Given the description of an element on the screen output the (x, y) to click on. 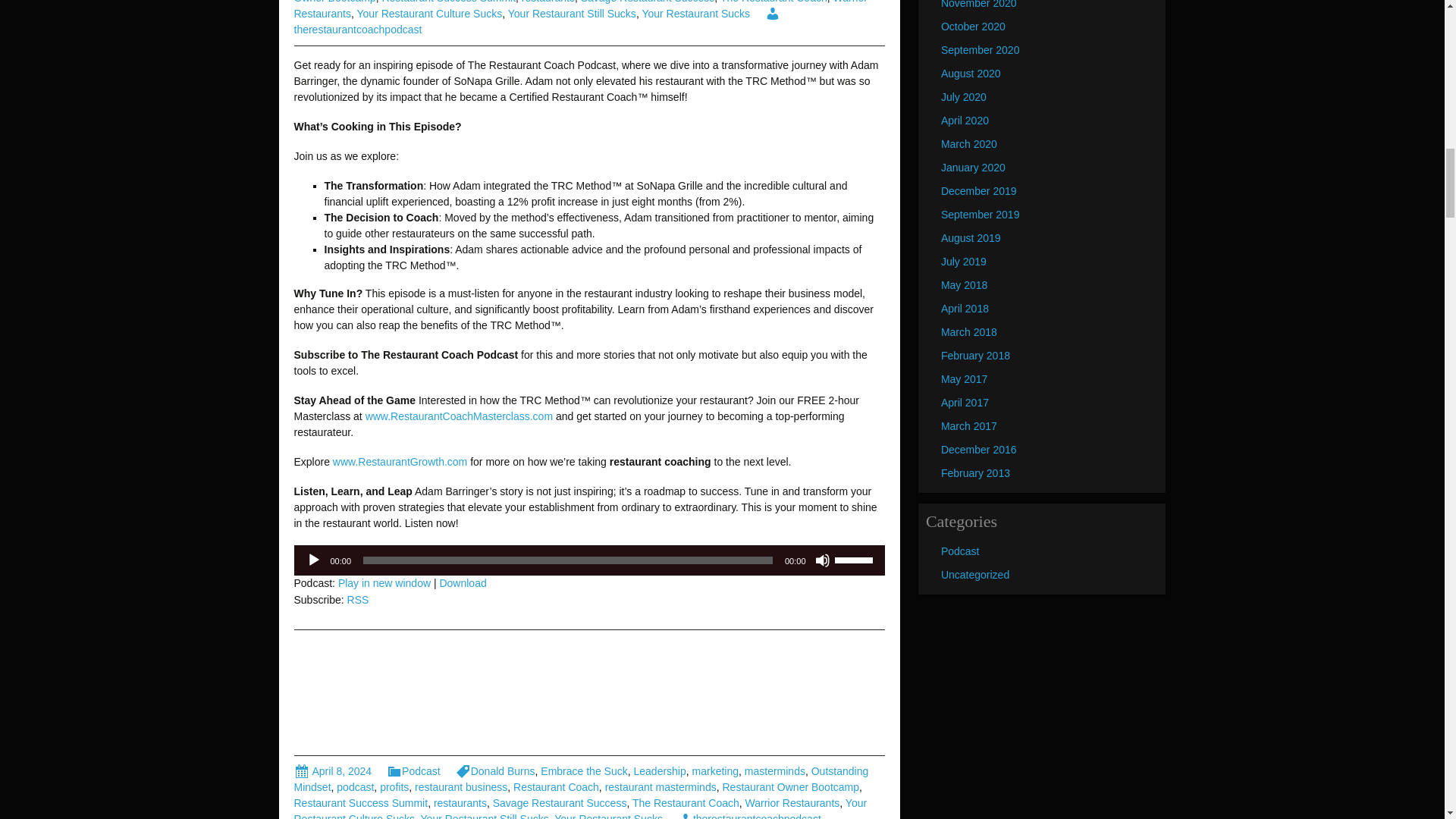
Play in new window (383, 582)
View all posts by therestaurantcoachpodcast (537, 21)
Download (462, 582)
Mute (821, 560)
View all posts by therestaurantcoachpodcast (749, 816)
Play (313, 560)
Subscribe via RSS (358, 599)
